Given the description of an element on the screen output the (x, y) to click on. 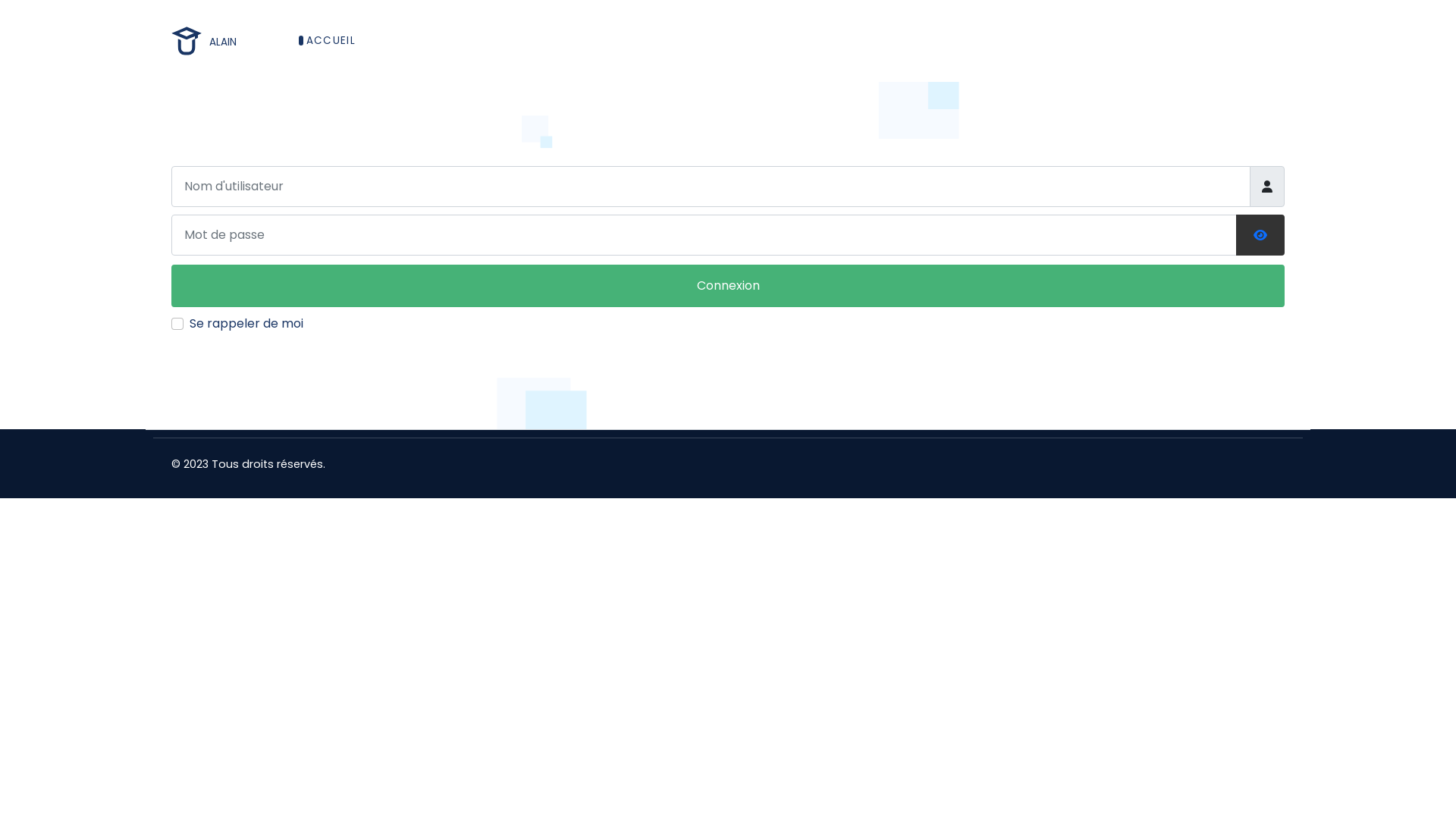
Connexion Element type: text (727, 285)
Remember Me Element type: hover (177, 323)
ACCUEIL Element type: text (330, 40)
Afficher le mot de passe Element type: text (1259, 235)
ALAIN Element type: text (203, 40)
Nom d'utilisateur Element type: hover (1266, 186)
